Given the description of an element on the screen output the (x, y) to click on. 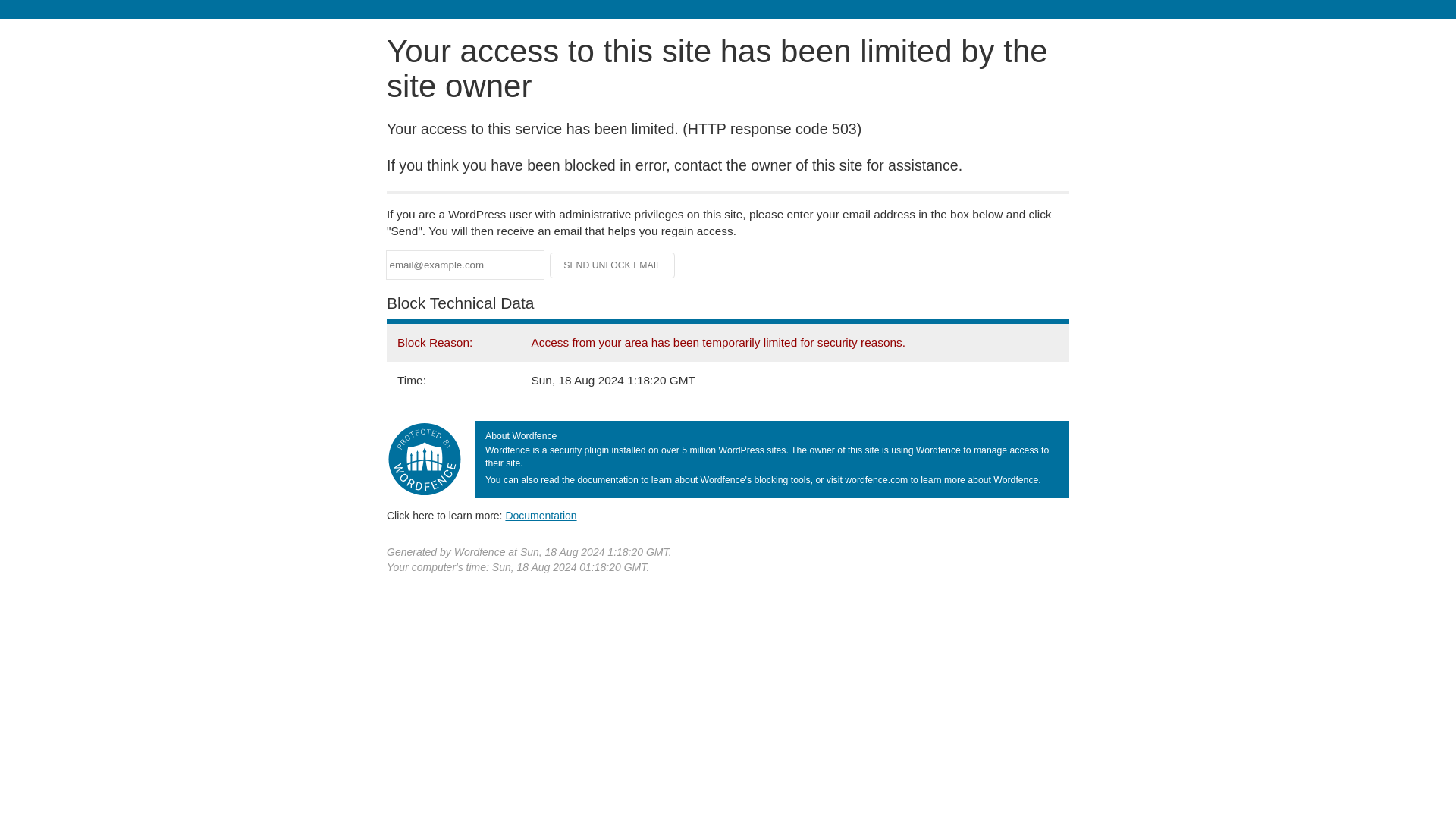
Send Unlock Email (612, 265)
Documentation (540, 515)
Send Unlock Email (612, 265)
